Given the description of an element on the screen output the (x, y) to click on. 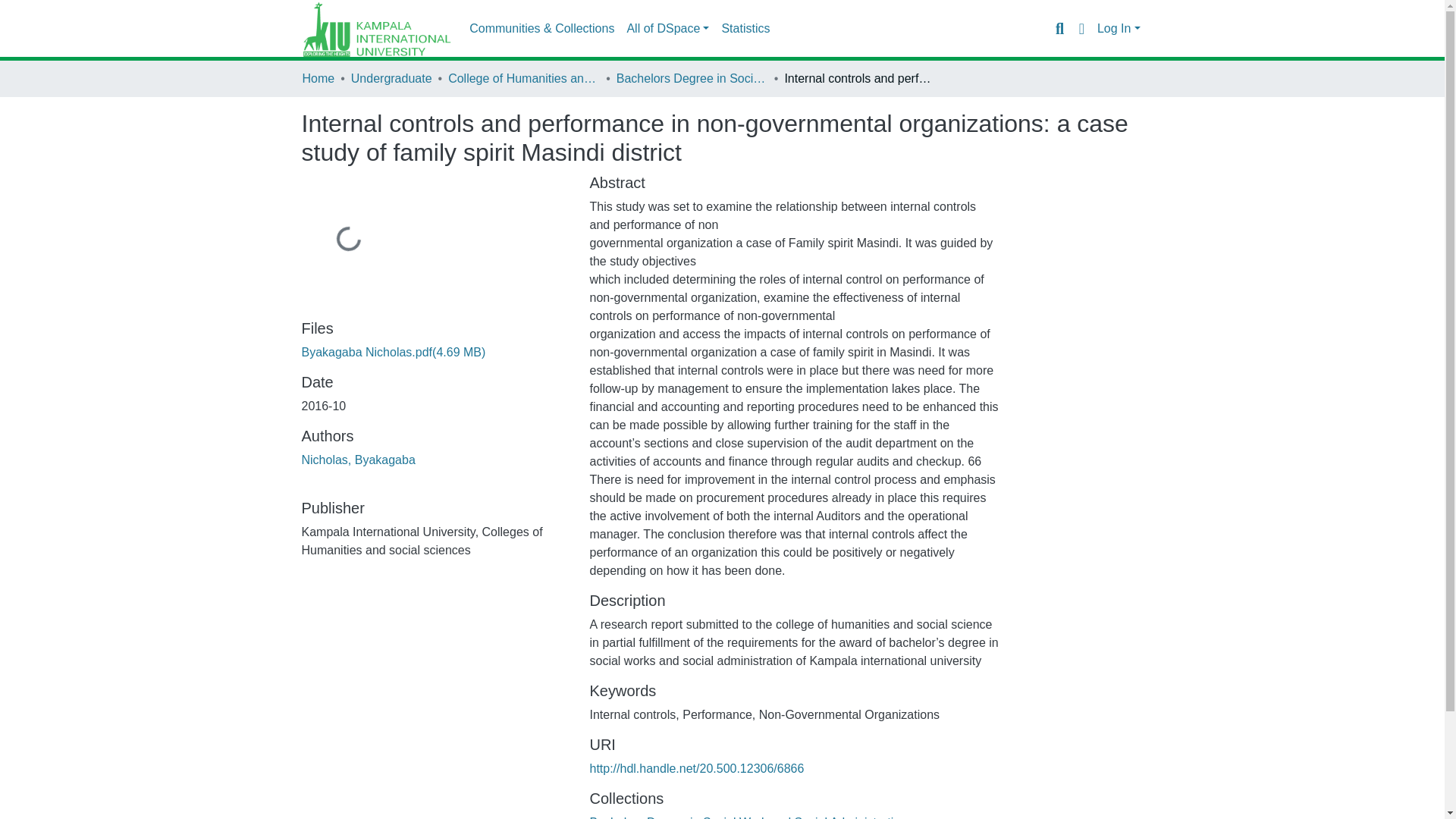
Bachelors Degree in Social Work and Social Administration (691, 78)
Nicholas, Byakagaba (357, 459)
Undergraduate (391, 78)
Search (1058, 28)
Language switch (1081, 28)
Home (317, 78)
Statistics (745, 28)
Statistics (745, 28)
All of DSpace (667, 28)
Log In (1118, 28)
College of Humanities and Social Sciences (523, 78)
